Given the description of an element on the screen output the (x, y) to click on. 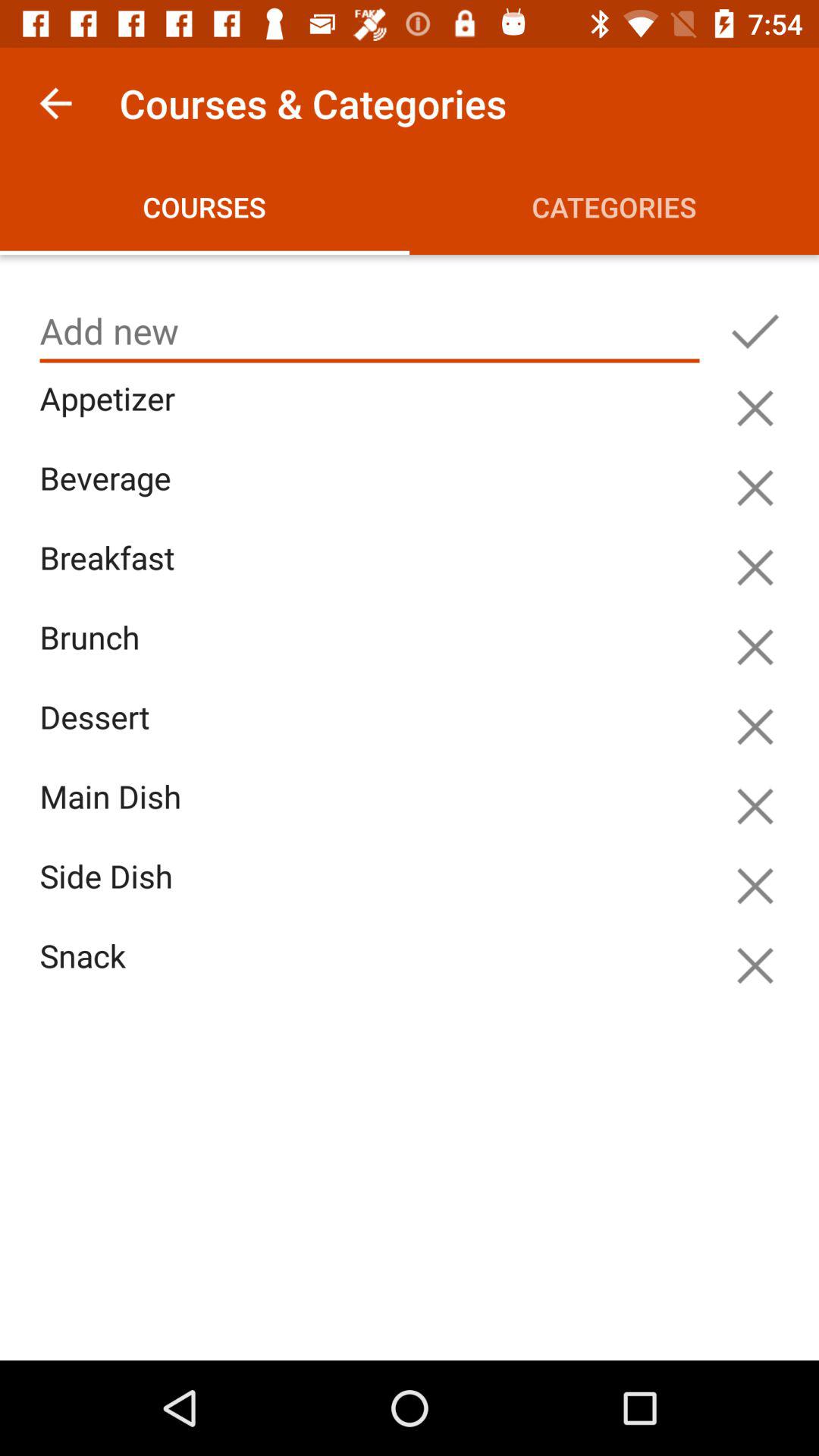
deletes beverage (755, 487)
